Given the description of an element on the screen output the (x, y) to click on. 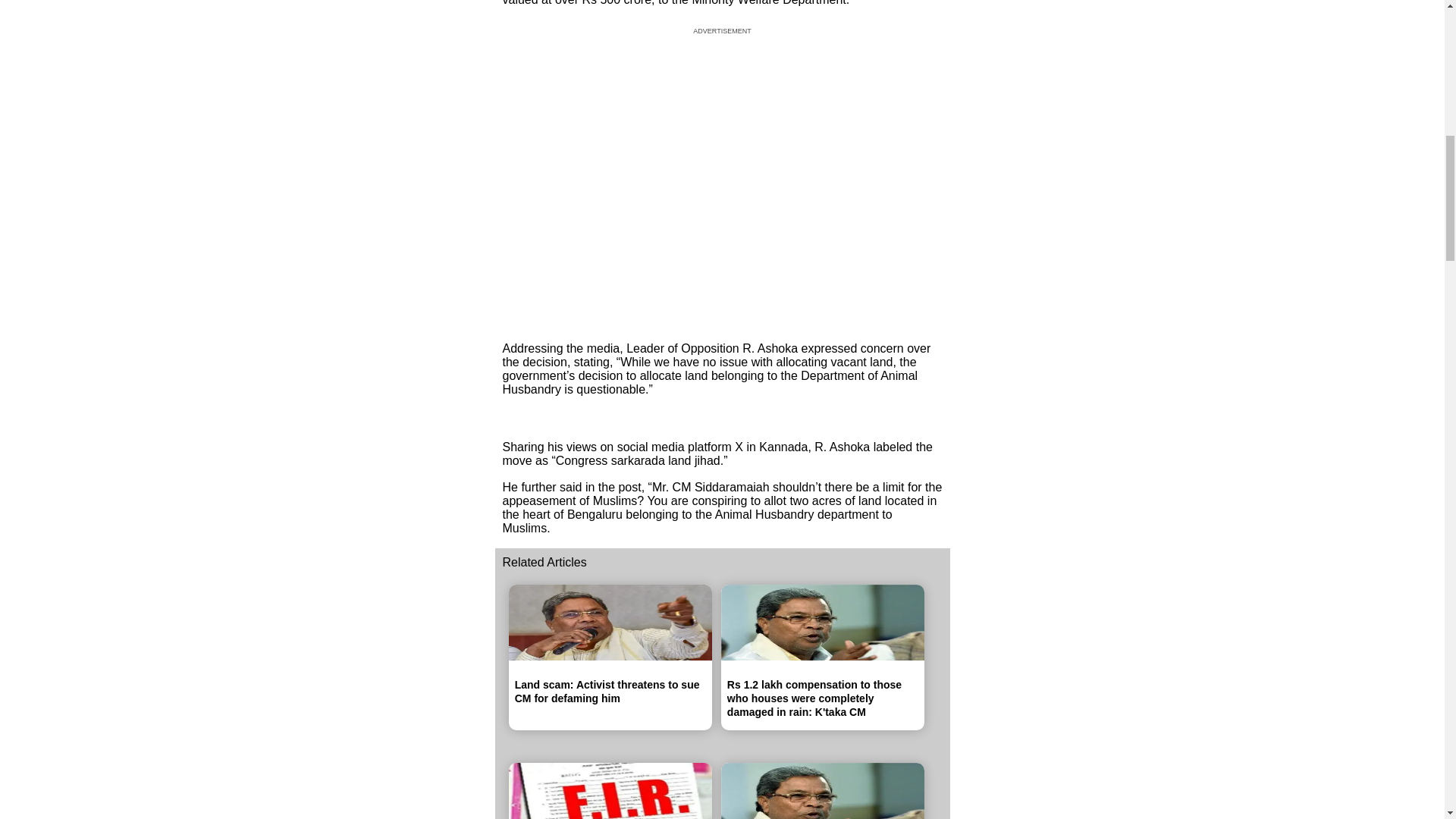
3rd party ad content (722, 178)
